Given the description of an element on the screen output the (x, y) to click on. 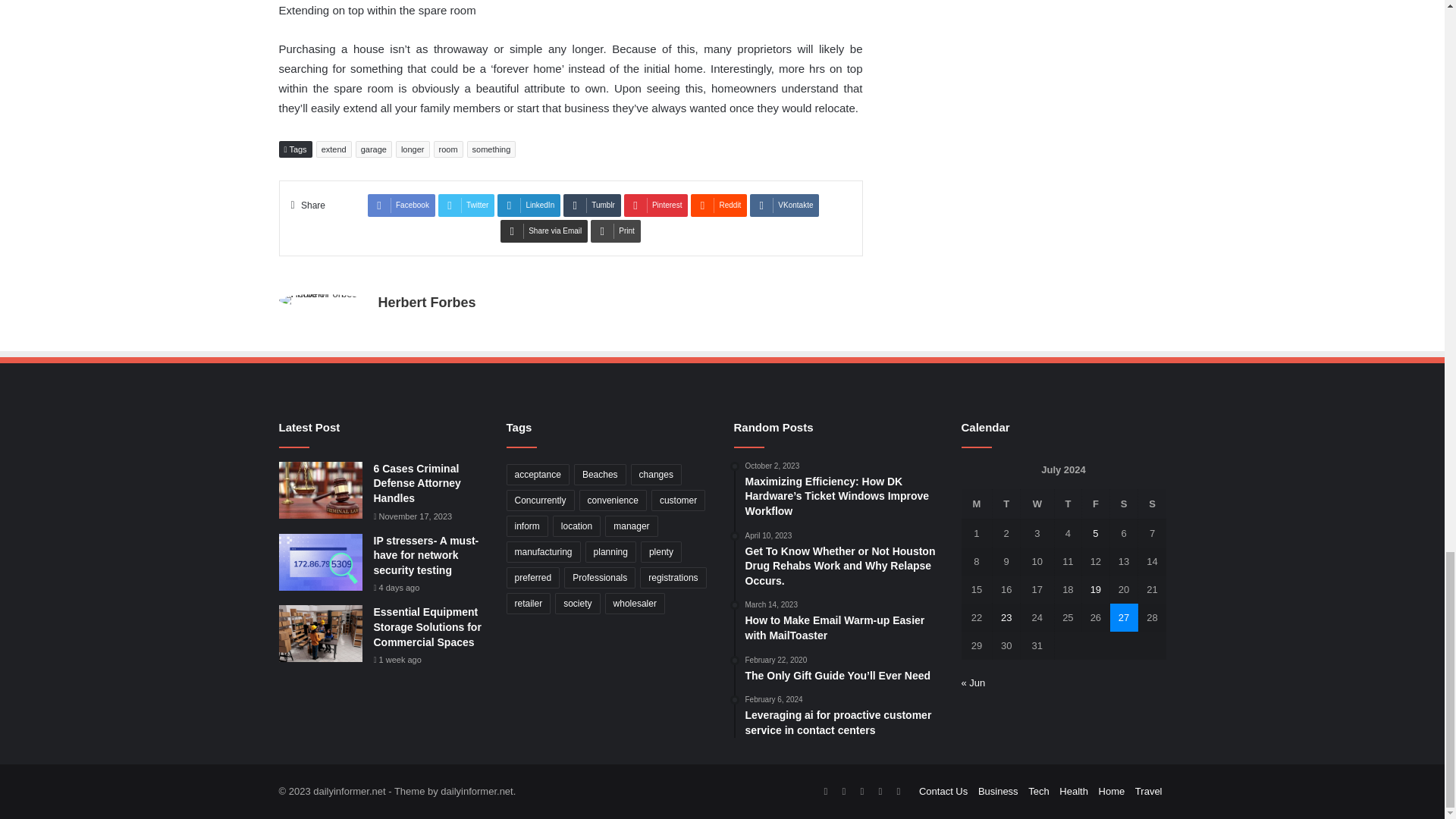
Monday (976, 503)
garage (373, 149)
Tumblr (592, 205)
Pinterest (655, 205)
Tuesday (1006, 503)
Thursday (1068, 503)
longer (412, 149)
something (491, 149)
Twitter (466, 205)
Friday (1095, 503)
Wednesday (1037, 503)
Sunday (1152, 503)
room (448, 149)
Saturday (1123, 503)
LinkedIn (528, 205)
